Given the description of an element on the screen output the (x, y) to click on. 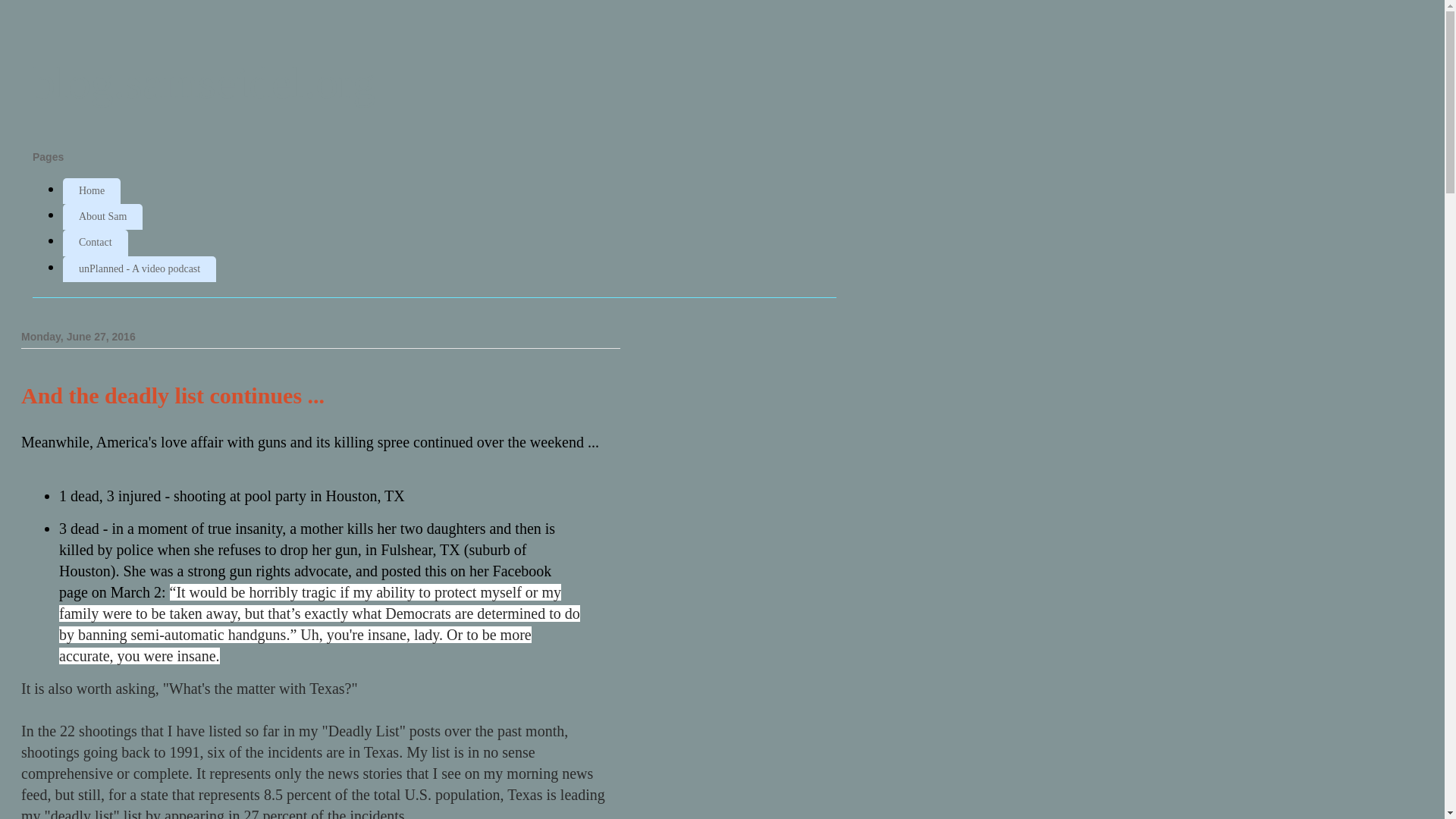
blog.samseidel.org (203, 82)
unPlanned - A video podcast (138, 268)
Contact (95, 242)
Home (91, 190)
About Sam (102, 216)
